Given the description of an element on the screen output the (x, y) to click on. 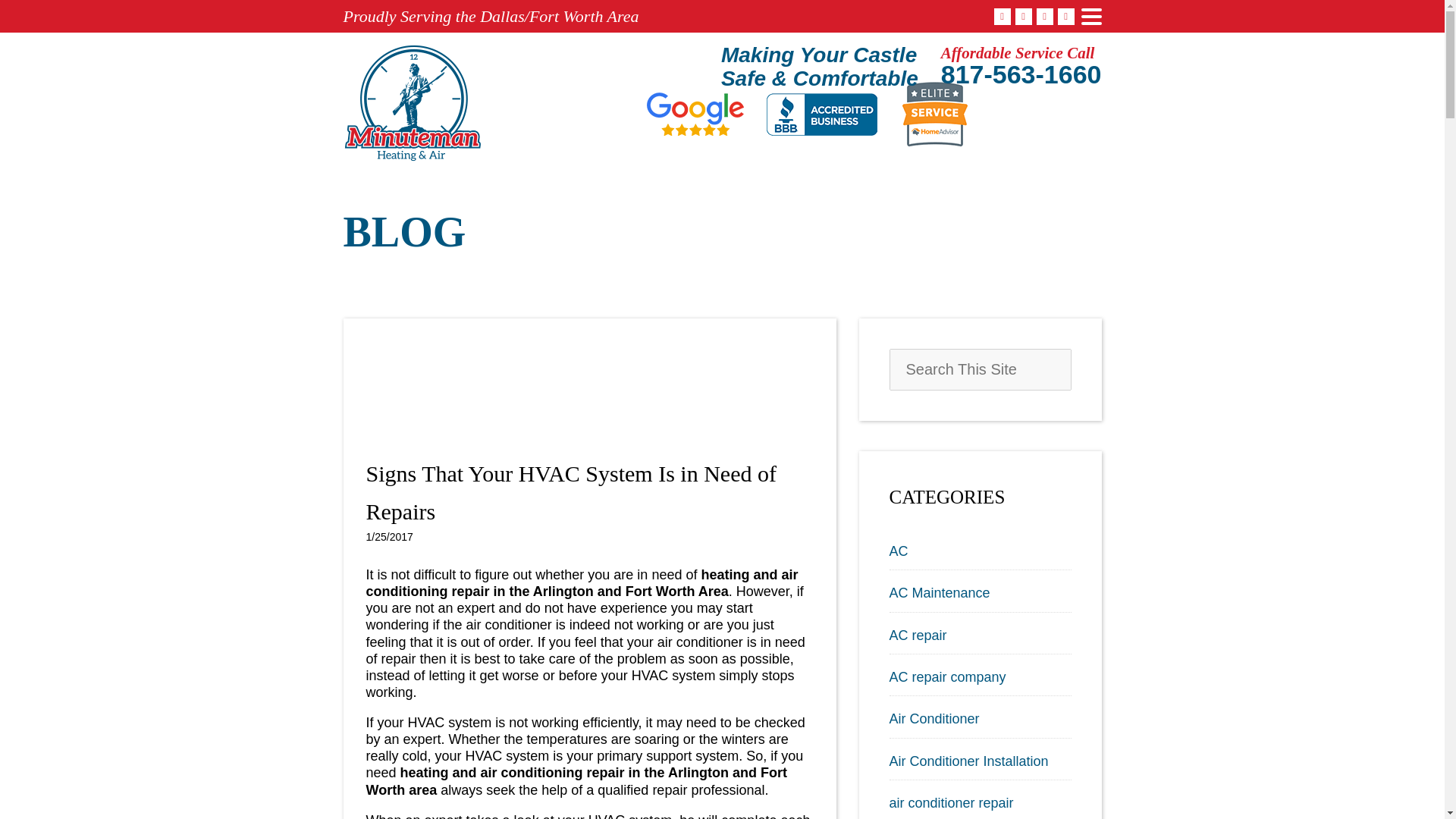
817-563-1660 (1021, 73)
Minuteman Heating and AC (411, 103)
